Given the description of an element on the screen output the (x, y) to click on. 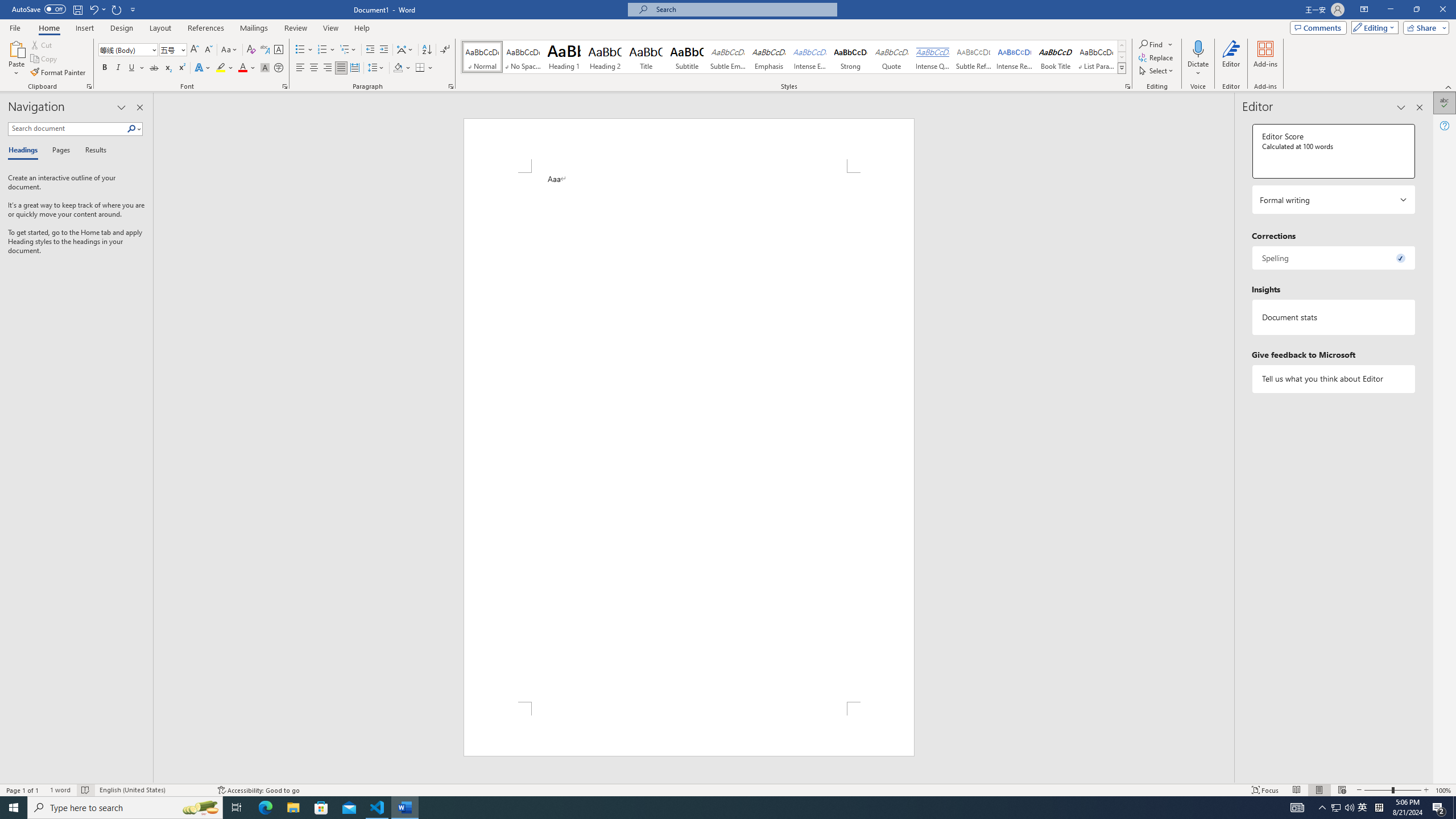
Superscript (180, 67)
Increase Indent (383, 49)
Open (182, 49)
Language English (United States) (152, 790)
Emphasis (768, 56)
